Given the description of an element on the screen output the (x, y) to click on. 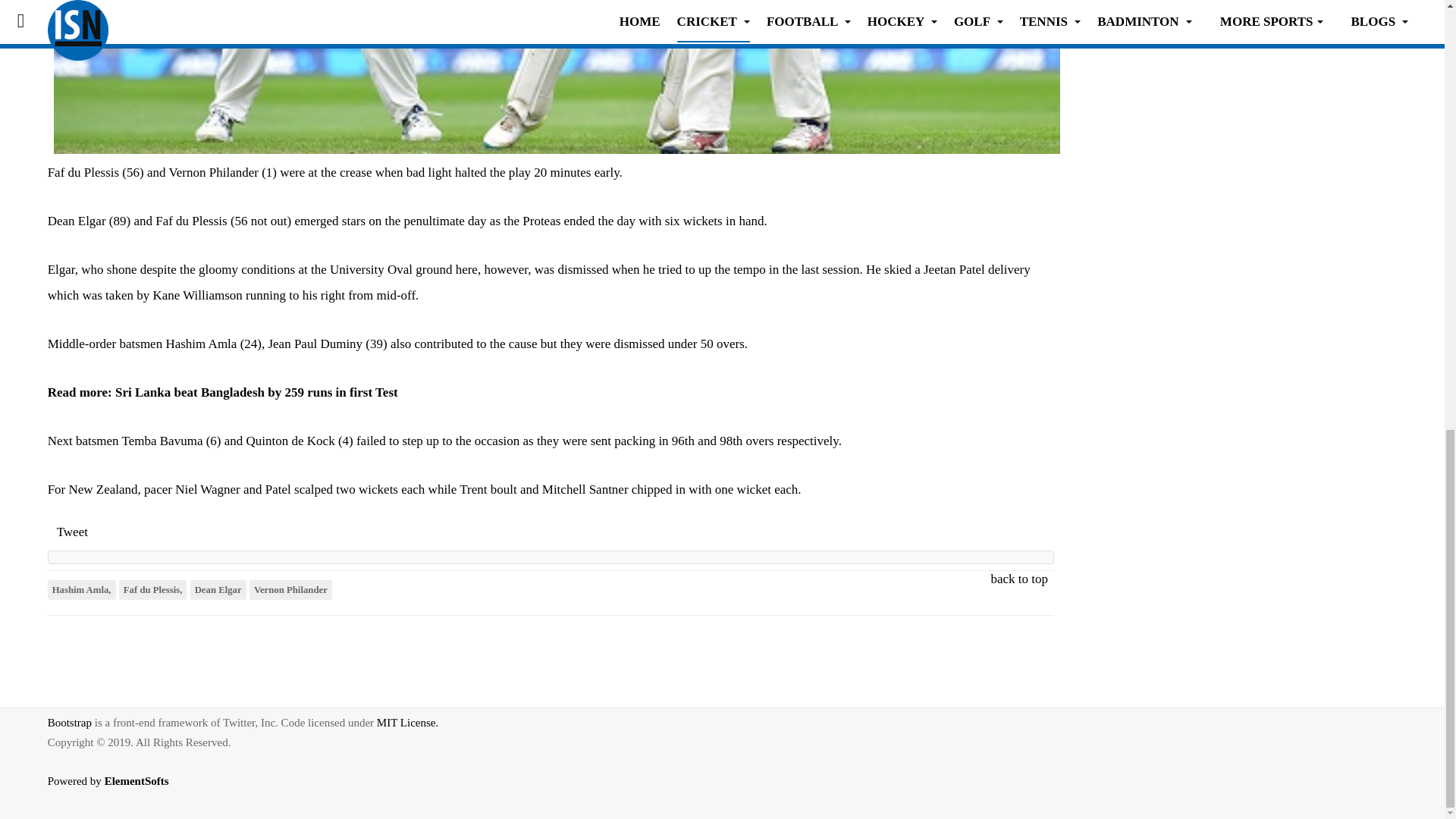
MIT License (407, 722)
Powered By ElementSofts (117, 792)
Bootstrap by Twitter (69, 722)
